Given the description of an element on the screen output the (x, y) to click on. 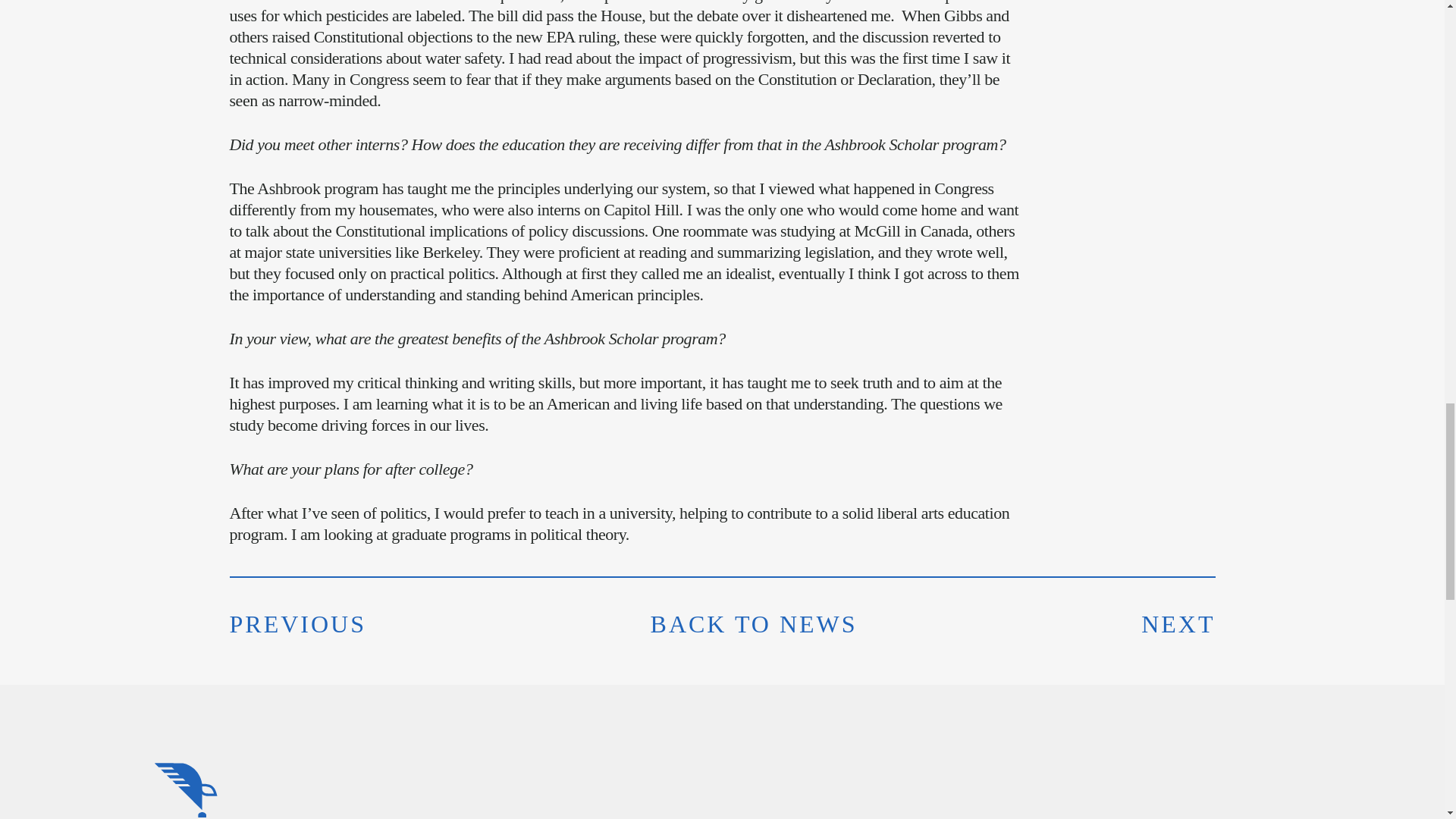
NEXT (1177, 624)
PREVIOUS (296, 624)
BACK TO NEWS (753, 624)
